Given the description of an element on the screen output the (x, y) to click on. 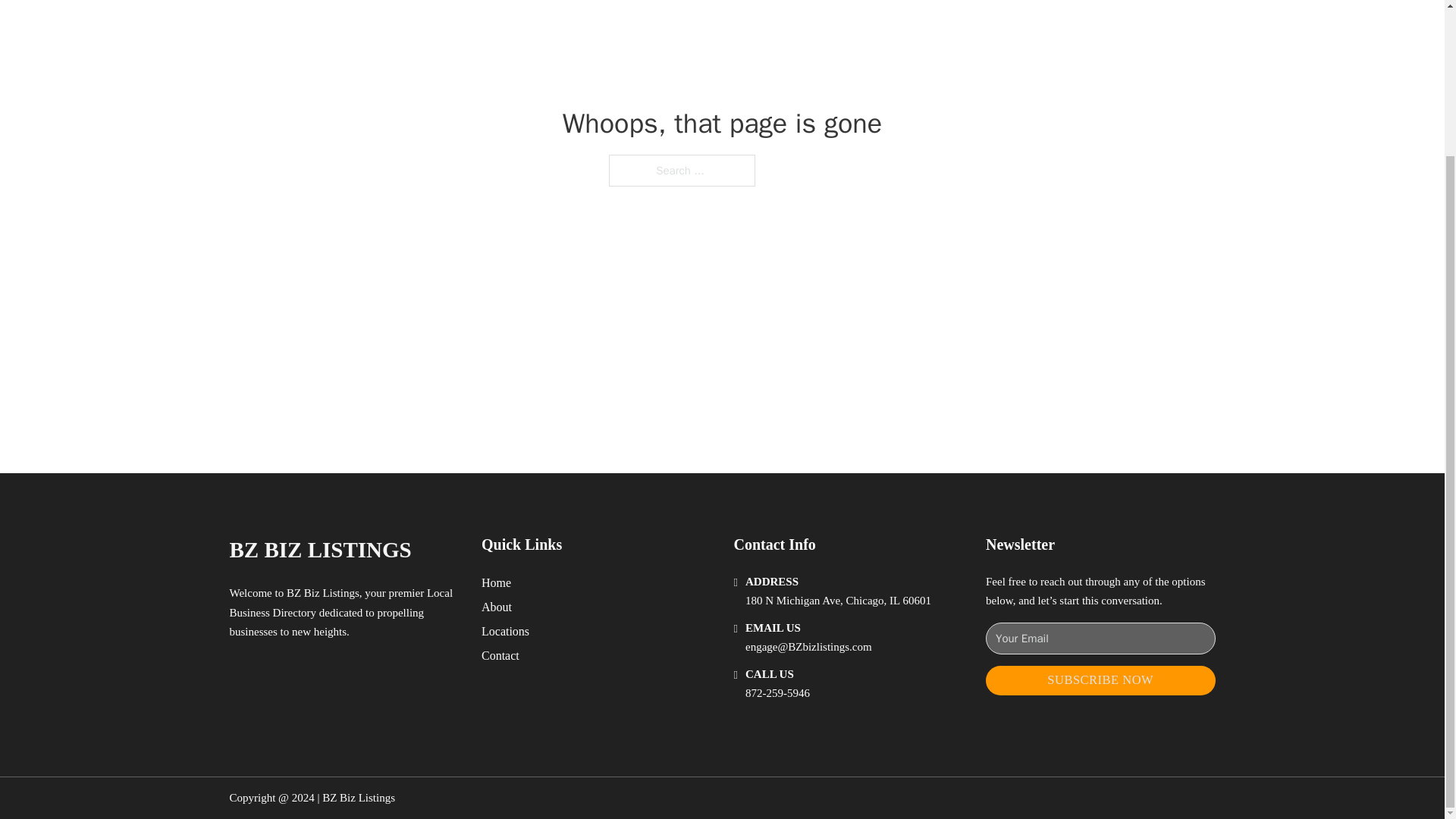
SUBSCRIBE NOW (1100, 680)
Contact (500, 655)
872-259-5946 (777, 693)
About (496, 607)
Home (496, 582)
Locations (505, 630)
BZ BIZ LISTINGS (319, 549)
